Given the description of an element on the screen output the (x, y) to click on. 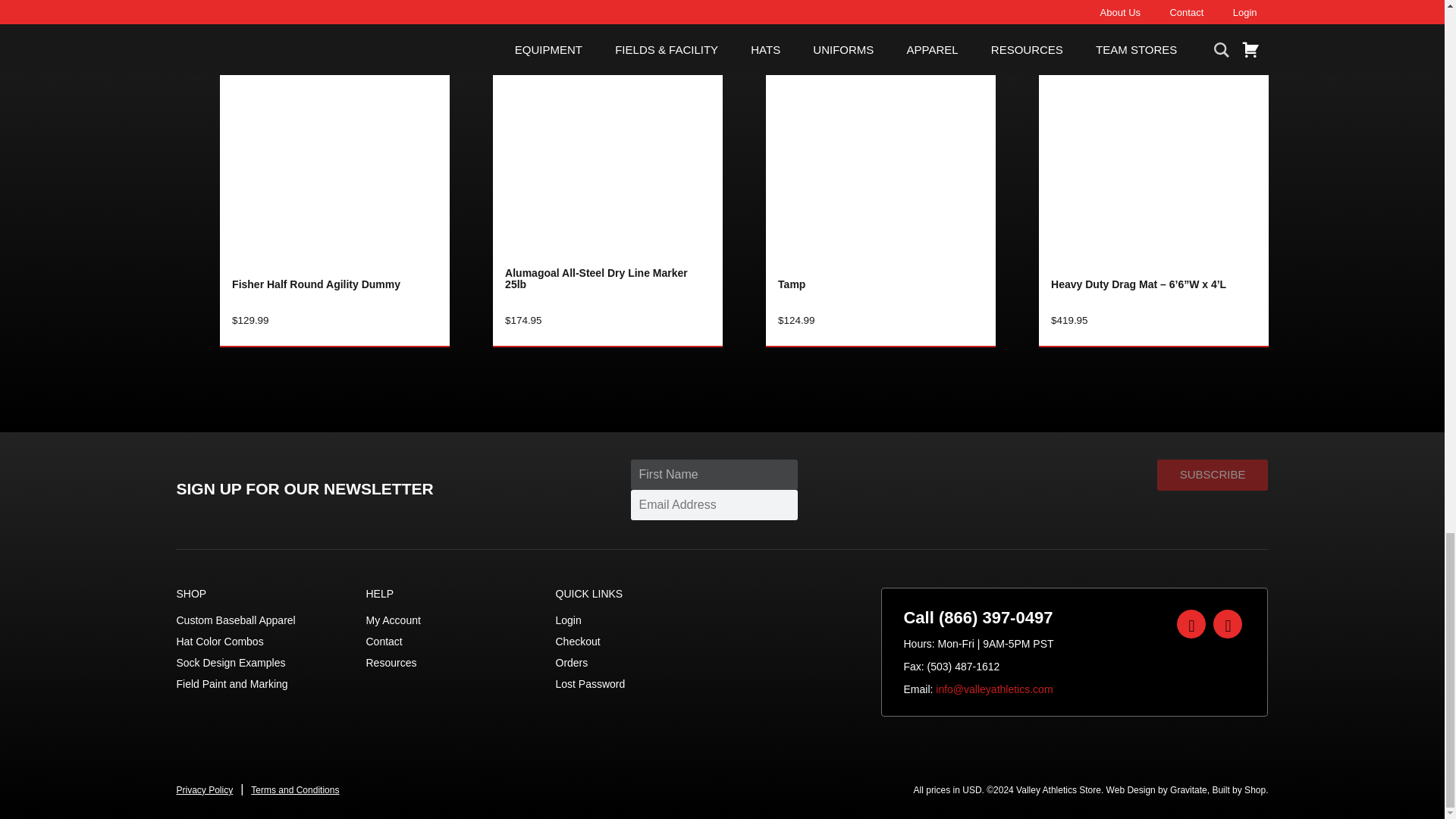
Web Developer (1238, 789)
Subscribe (1212, 474)
Web Designer (1156, 789)
